Given the description of an element on the screen output the (x, y) to click on. 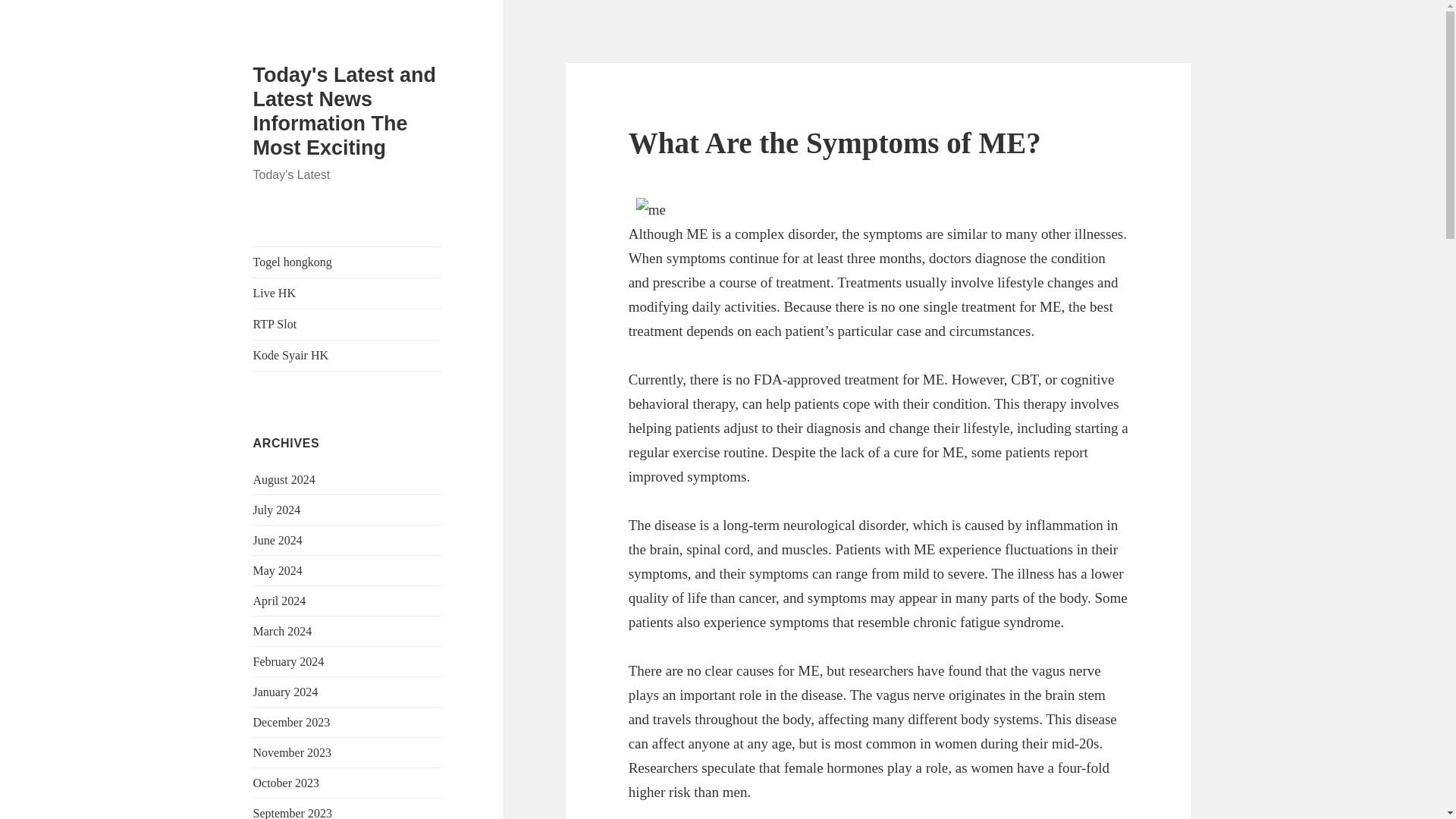
February 2024 (288, 661)
March 2024 (283, 631)
December 2023 (291, 721)
April 2024 (279, 600)
Today's Latest and Latest News Information The Most Exciting (344, 110)
July 2024 (277, 509)
Kode Syair HK (347, 355)
January 2024 (285, 691)
September 2023 (292, 812)
Togel hongkong (347, 262)
